Given the description of an element on the screen output the (x, y) to click on. 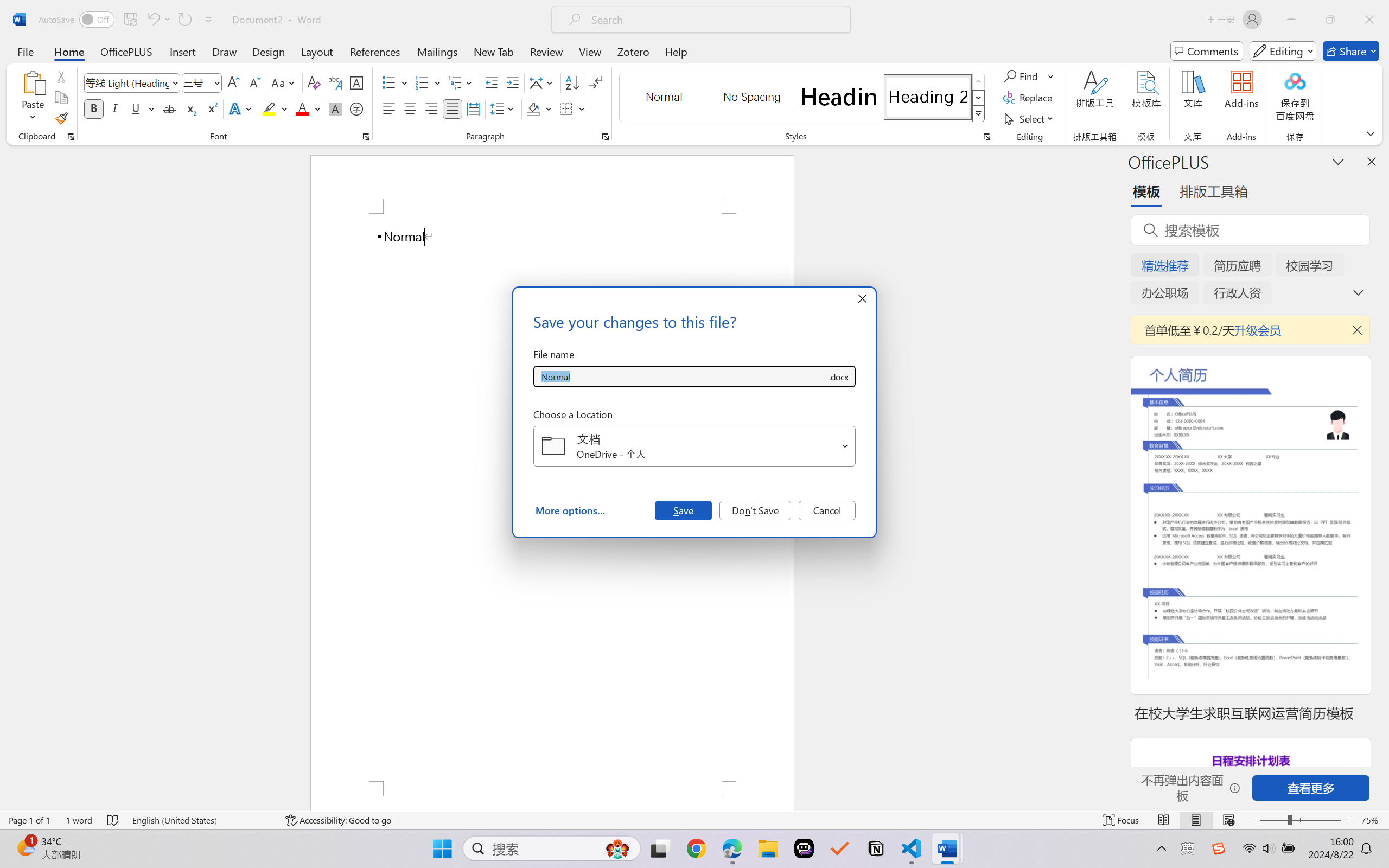
Task Pane Options (1338, 161)
Shading (539, 108)
Font Size (196, 82)
New Tab (493, 51)
Insert (182, 51)
Review (546, 51)
Minimize (1291, 19)
Bold (94, 108)
AutomationID: BadgeAnchorLargeTicker (24, 847)
OfficePLUS (126, 51)
Subscript (190, 108)
Distributed (473, 108)
